Given the description of an element on the screen output the (x, y) to click on. 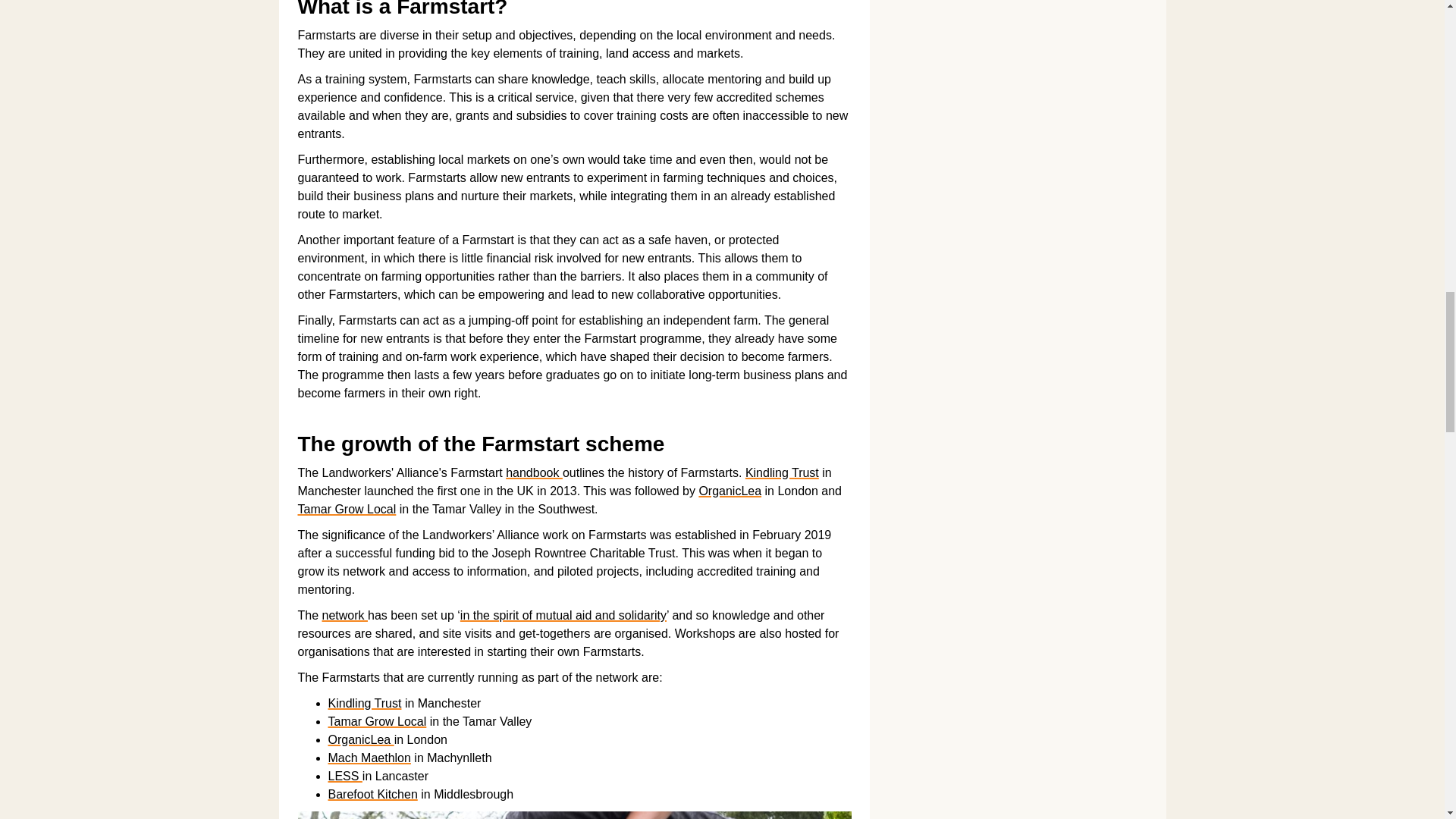
Kindling Trust (364, 703)
Kindling Trust (781, 472)
Tamar Grow Local (376, 721)
in the spirit of mutual aid and solidarity (563, 615)
OrganicLea (729, 490)
network (344, 615)
Tamar Grow Local (346, 508)
handbook (533, 472)
